Given the description of an element on the screen output the (x, y) to click on. 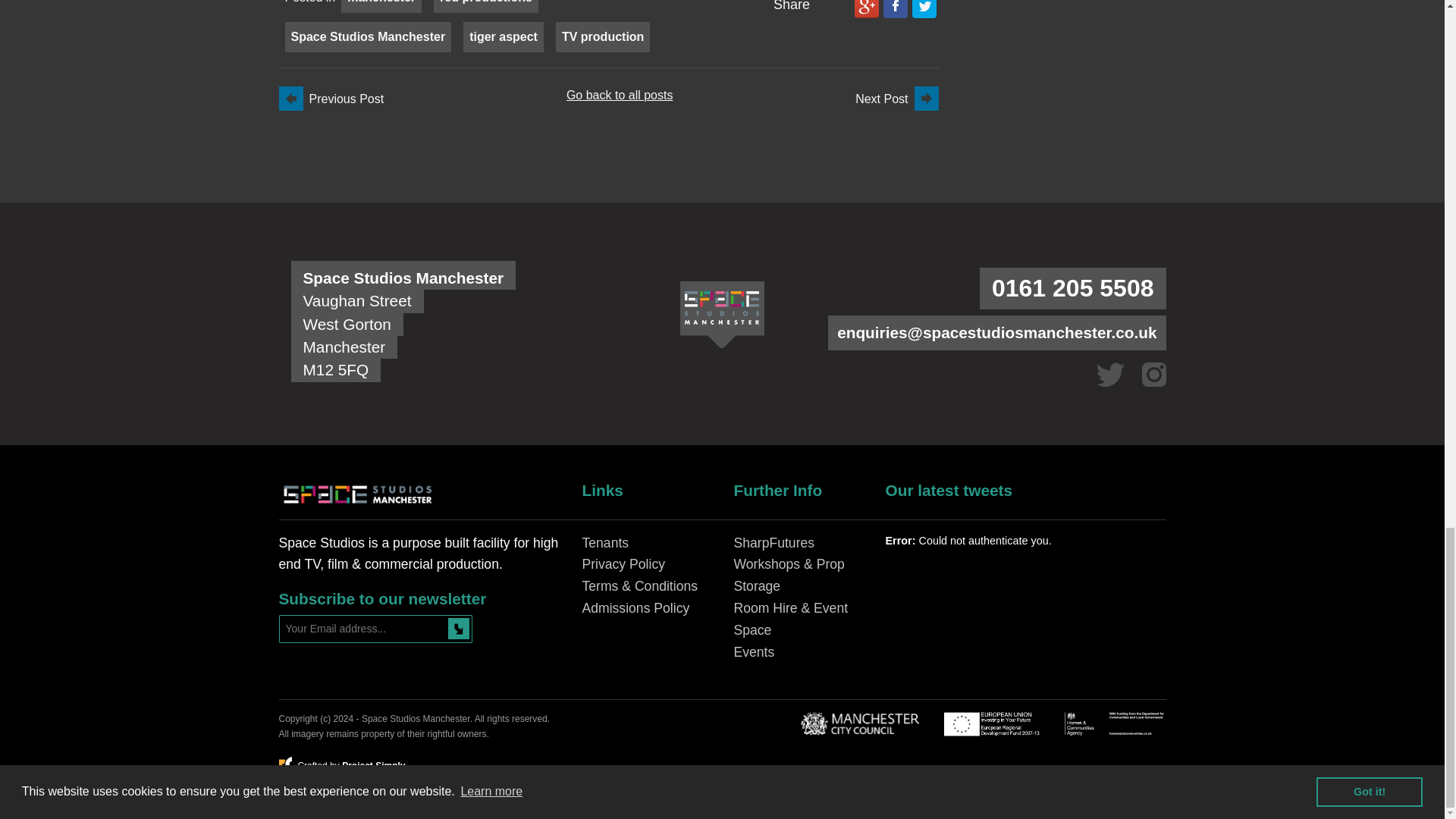
Manchester City Council (858, 723)
Homes and Communities (1115, 723)
Space Studios Manchester (368, 36)
tiger aspect (502, 36)
Previous Post (331, 98)
red productions (485, 2)
European Union (991, 723)
Next Post (896, 98)
Go back to all posts (619, 94)
manchester (380, 2)
Subscribe (458, 628)
TV production (602, 36)
